Given the description of an element on the screen output the (x, y) to click on. 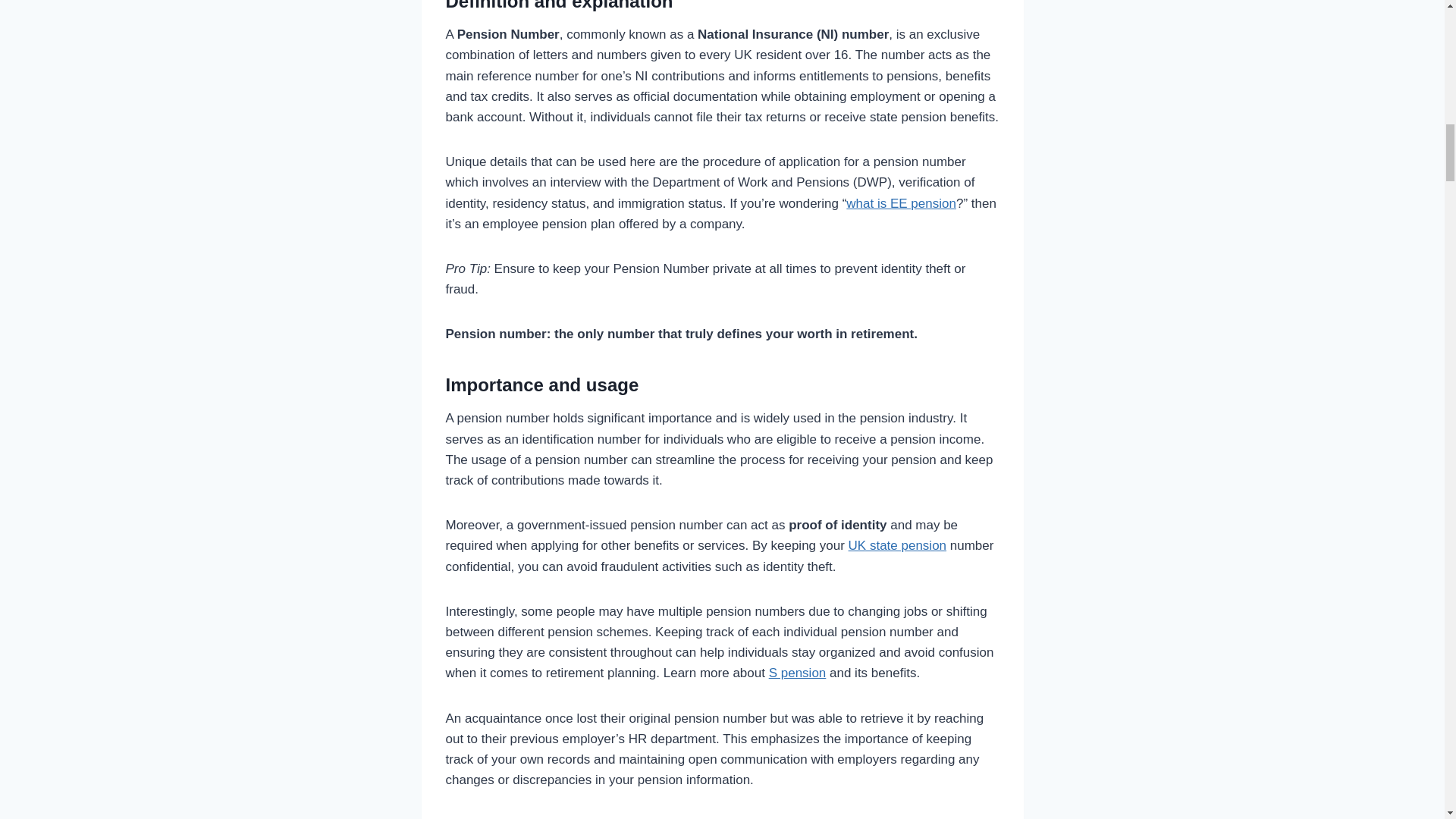
S pension (797, 672)
what is EE pension (900, 203)
UK state pension (897, 545)
